Given the description of an element on the screen output the (x, y) to click on. 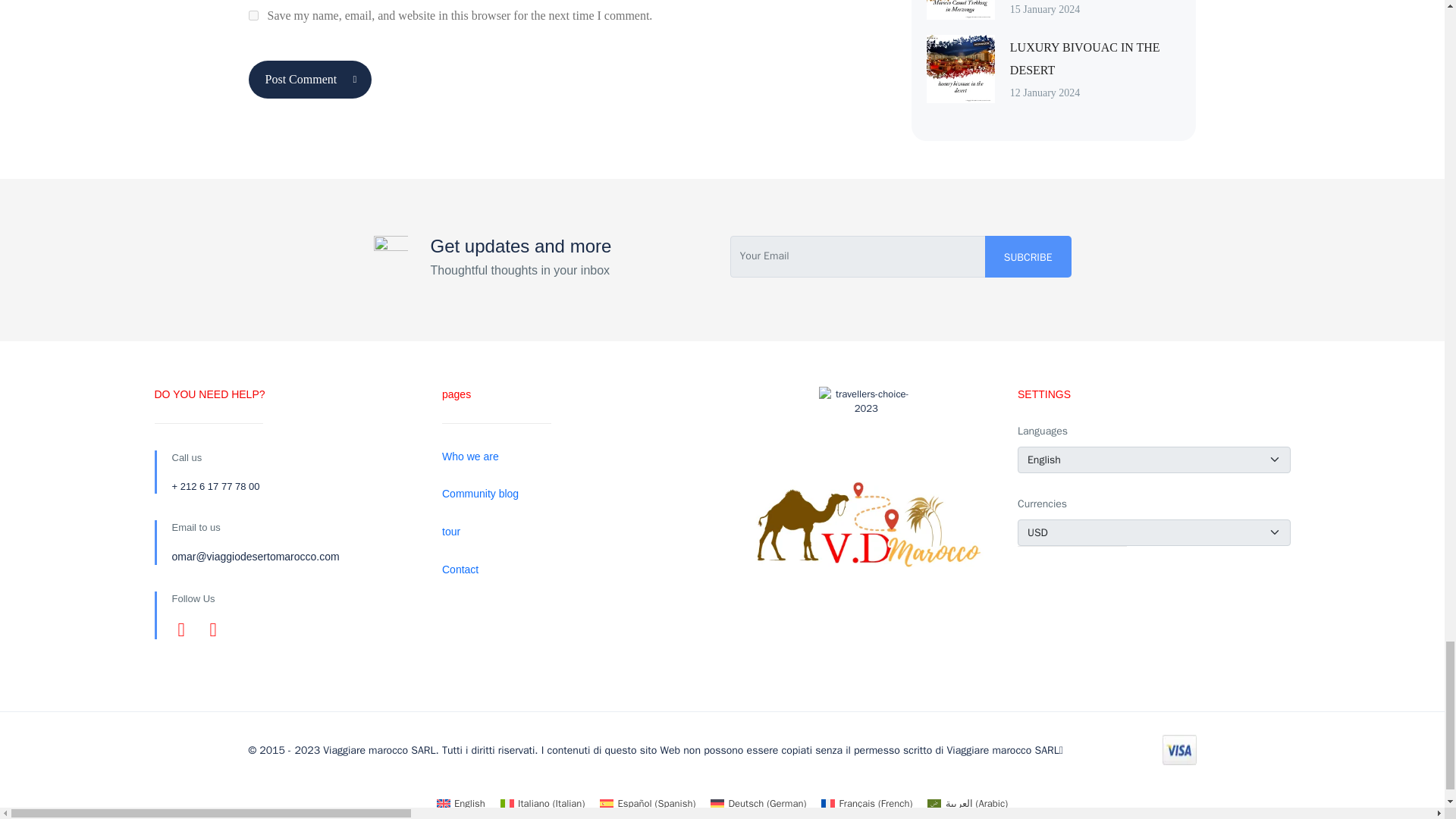
travellers-choice-2023 (866, 433)
Post Comment (310, 79)
Subcribe (1028, 256)
yes (253, 15)
